Given the description of an element on the screen output the (x, y) to click on. 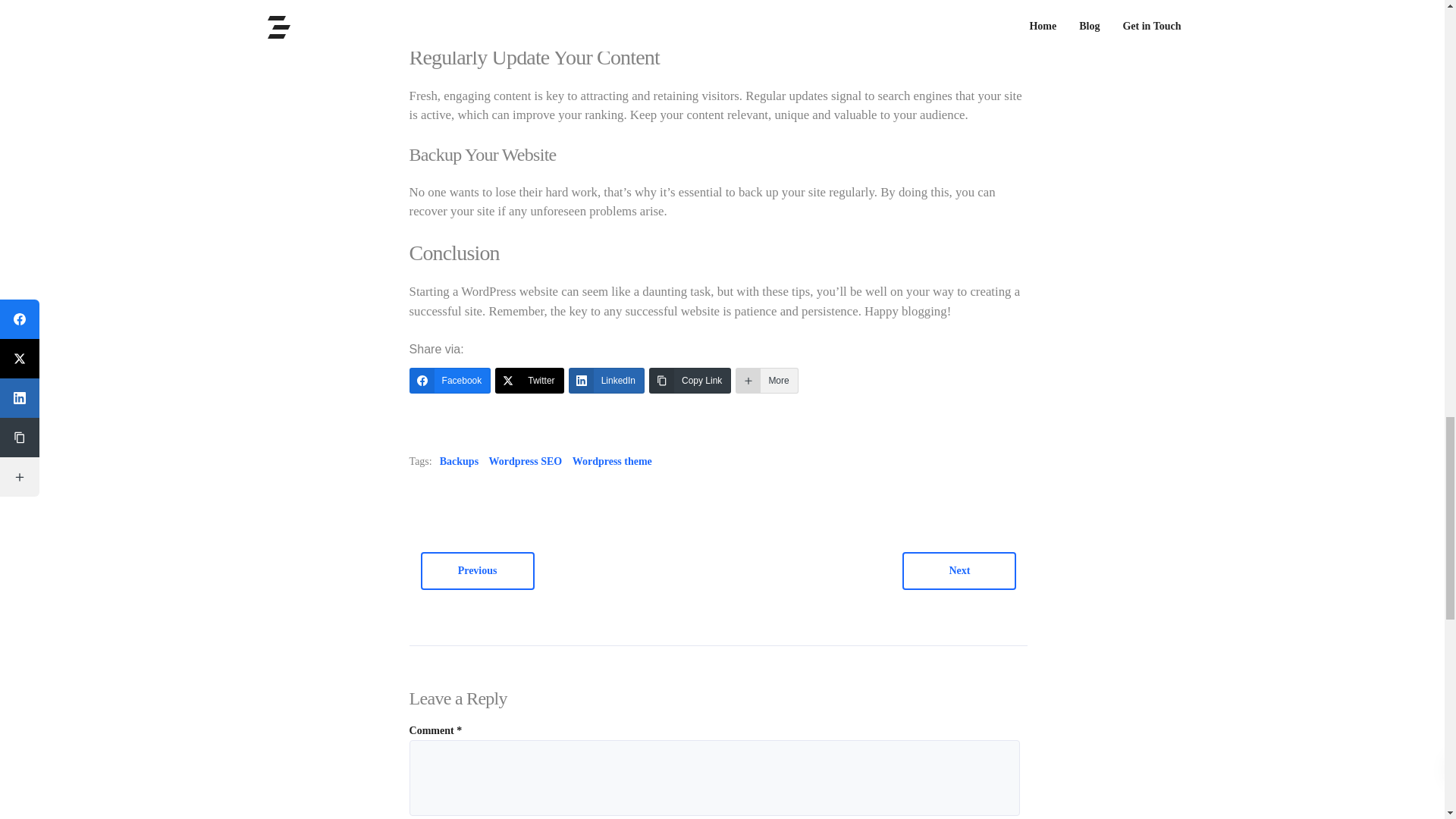
Copy Link (689, 380)
Next (959, 570)
Backups (459, 461)
More (766, 380)
Twitter (529, 380)
Previous (477, 570)
Facebook (450, 380)
LinkedIn (607, 380)
Wordpress theme (612, 461)
Wordpress SEO (525, 461)
